Given the description of an element on the screen output the (x, y) to click on. 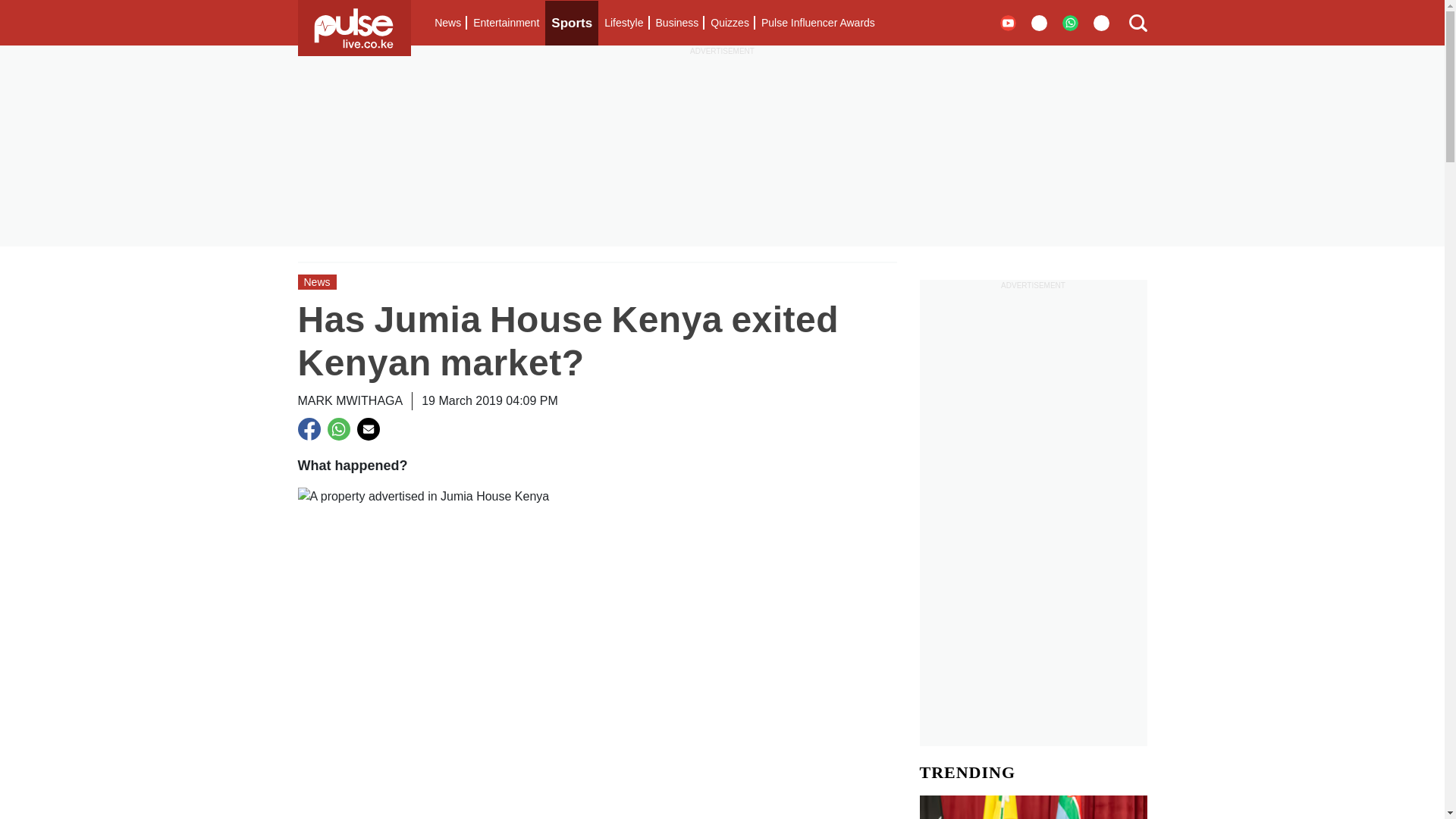
Business (676, 22)
Entertainment (505, 22)
Sports (571, 22)
Pulse Influencer Awards (817, 22)
Lifestyle (623, 22)
Quizzes (729, 22)
